Given the description of an element on the screen output the (x, y) to click on. 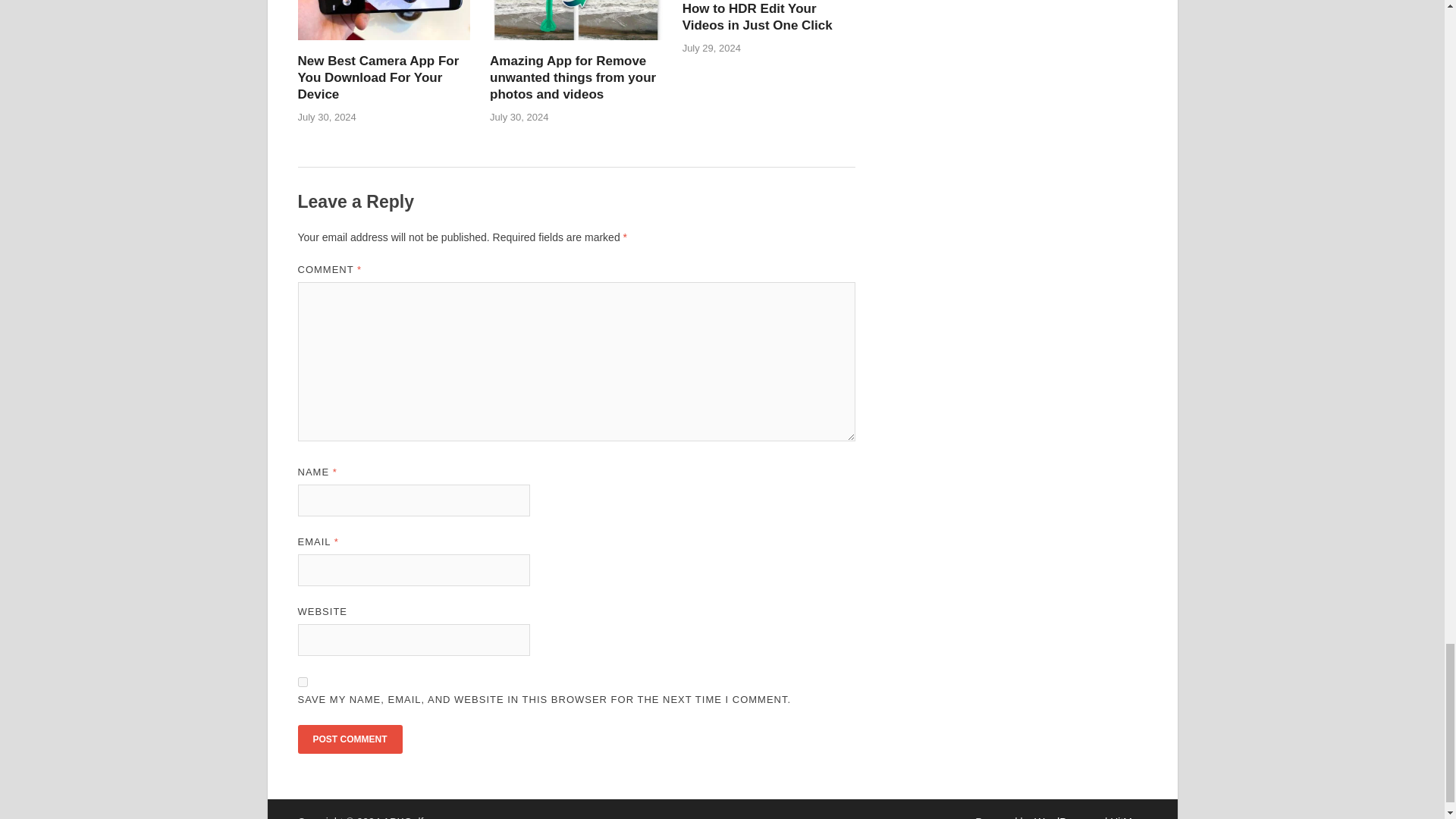
How to HDR Edit Your Videos in Just One Click (757, 16)
How to HDR Edit Your Videos in Just One Click (757, 16)
New Best Camera App For You Download For Your Device 2 (383, 20)
yes (302, 682)
New Best Camera App For You Download For Your Device (377, 77)
Post Comment (349, 738)
Post Comment (349, 738)
New Best Camera App For You Download For Your Device (377, 77)
